Given the description of an element on the screen output the (x, y) to click on. 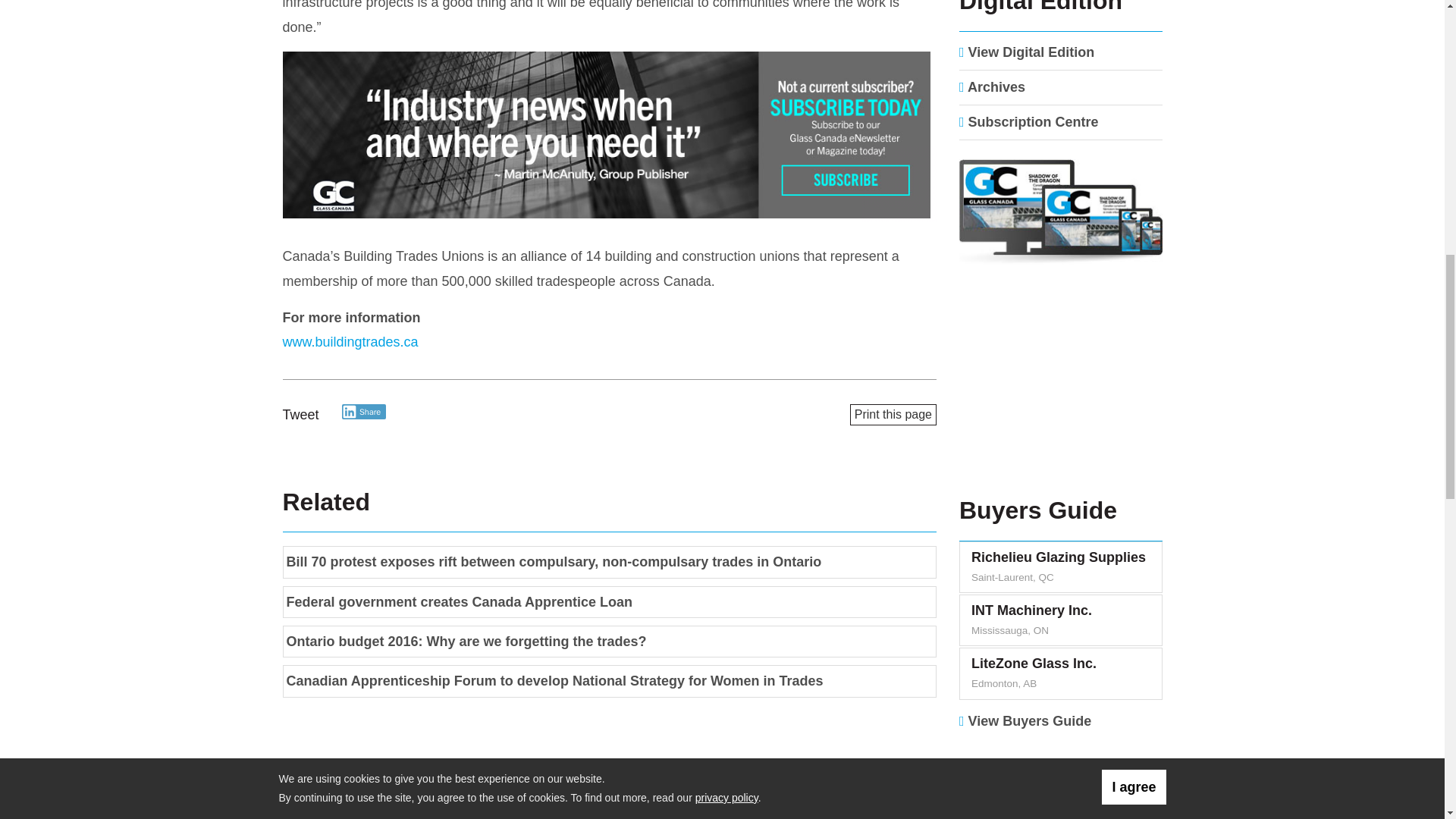
3rd party ad content (1060, 780)
3rd party ad content (1060, 386)
3rd party ad content (609, 136)
